Given the description of an element on the screen output the (x, y) to click on. 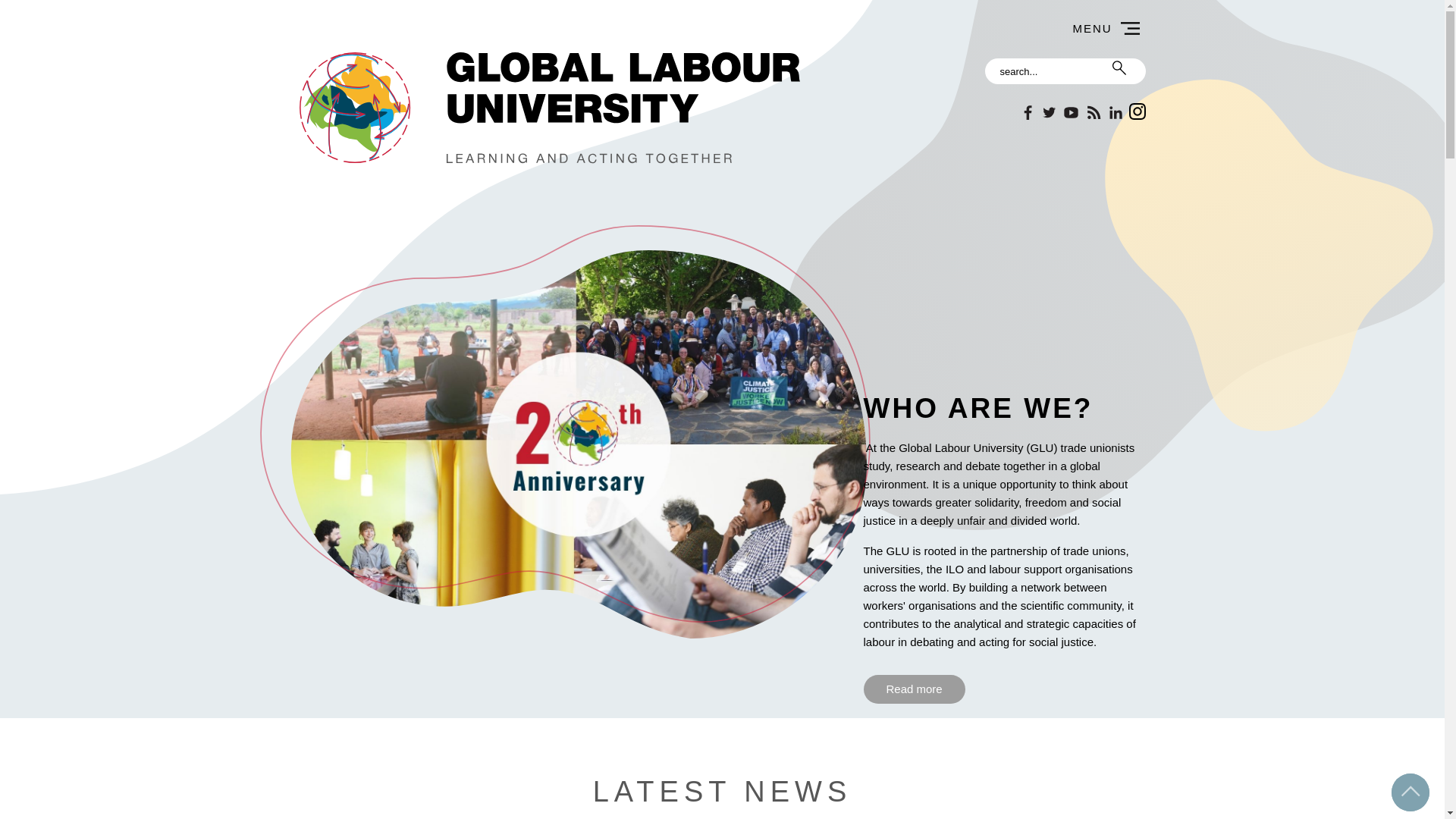
Search (1064, 71)
Read more (913, 688)
